Given the description of an element on the screen output the (x, y) to click on. 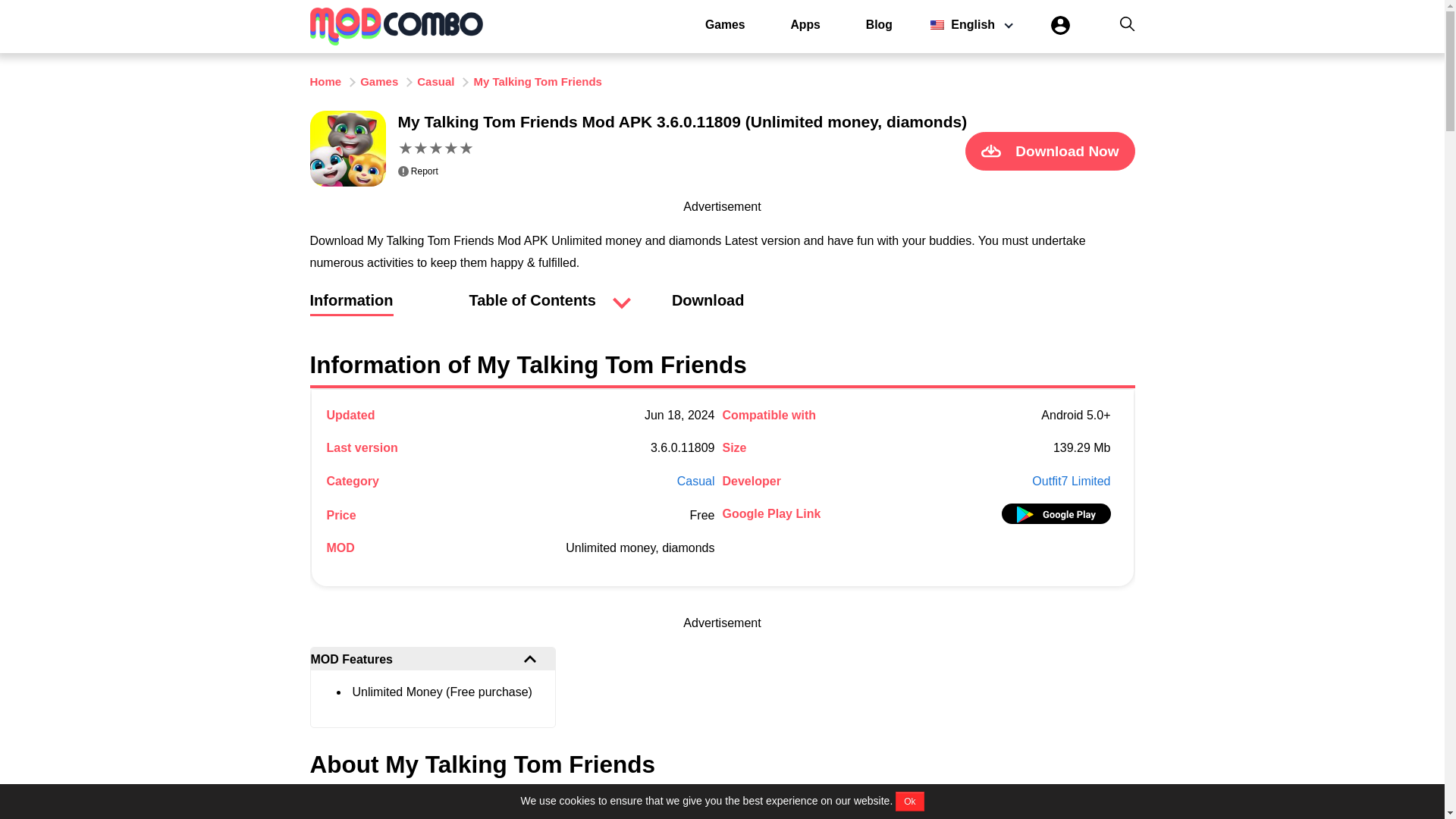
Blog (879, 24)
English (967, 24)
Blog (879, 24)
Games (725, 24)
Games (378, 81)
Download (707, 307)
Apps (805, 24)
Apps (805, 24)
Casual (695, 481)
Outfit7 Limited (1070, 481)
